Given the description of an element on the screen output the (x, y) to click on. 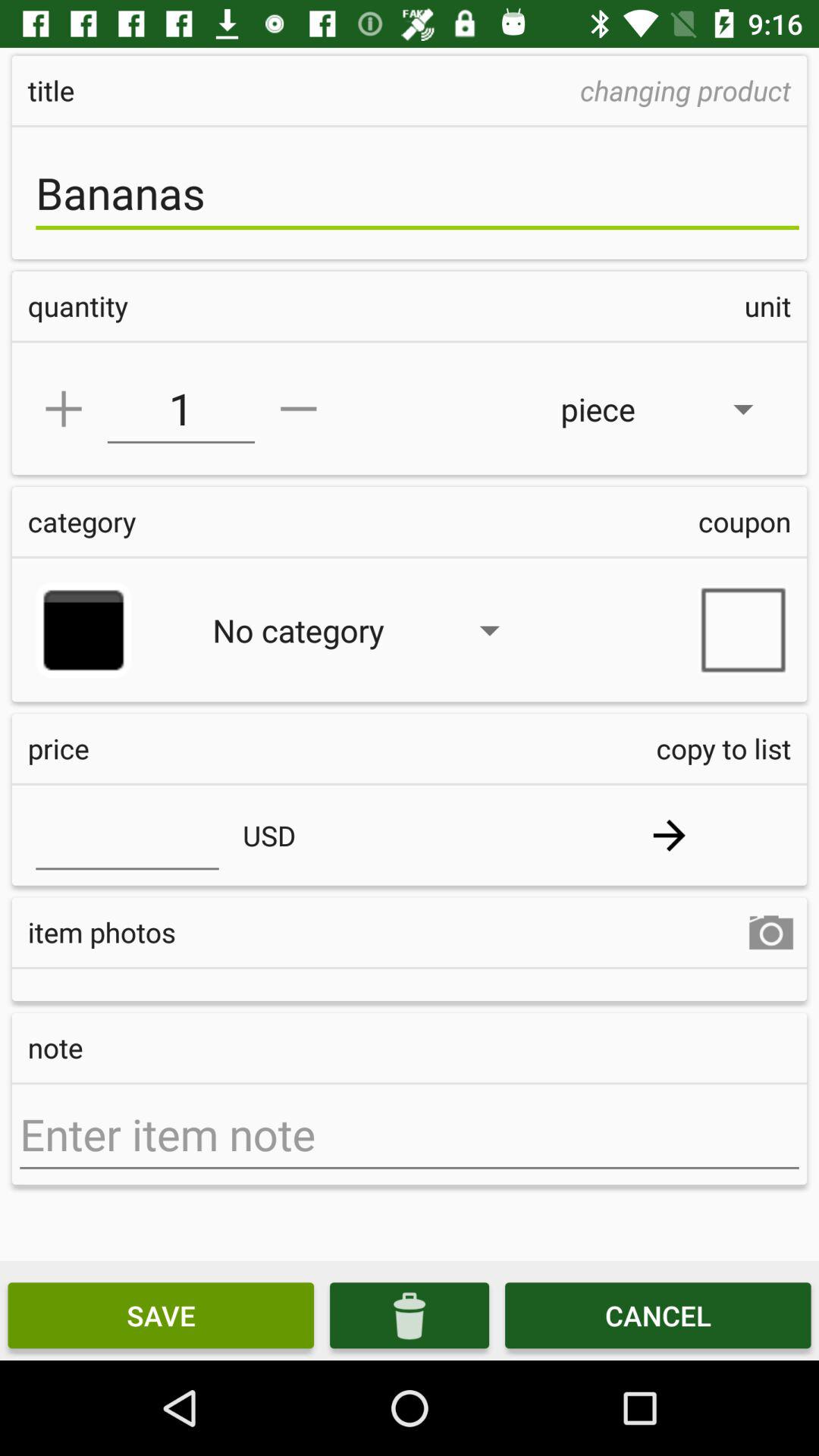
decrease amount (298, 408)
